Given the description of an element on the screen output the (x, y) to click on. 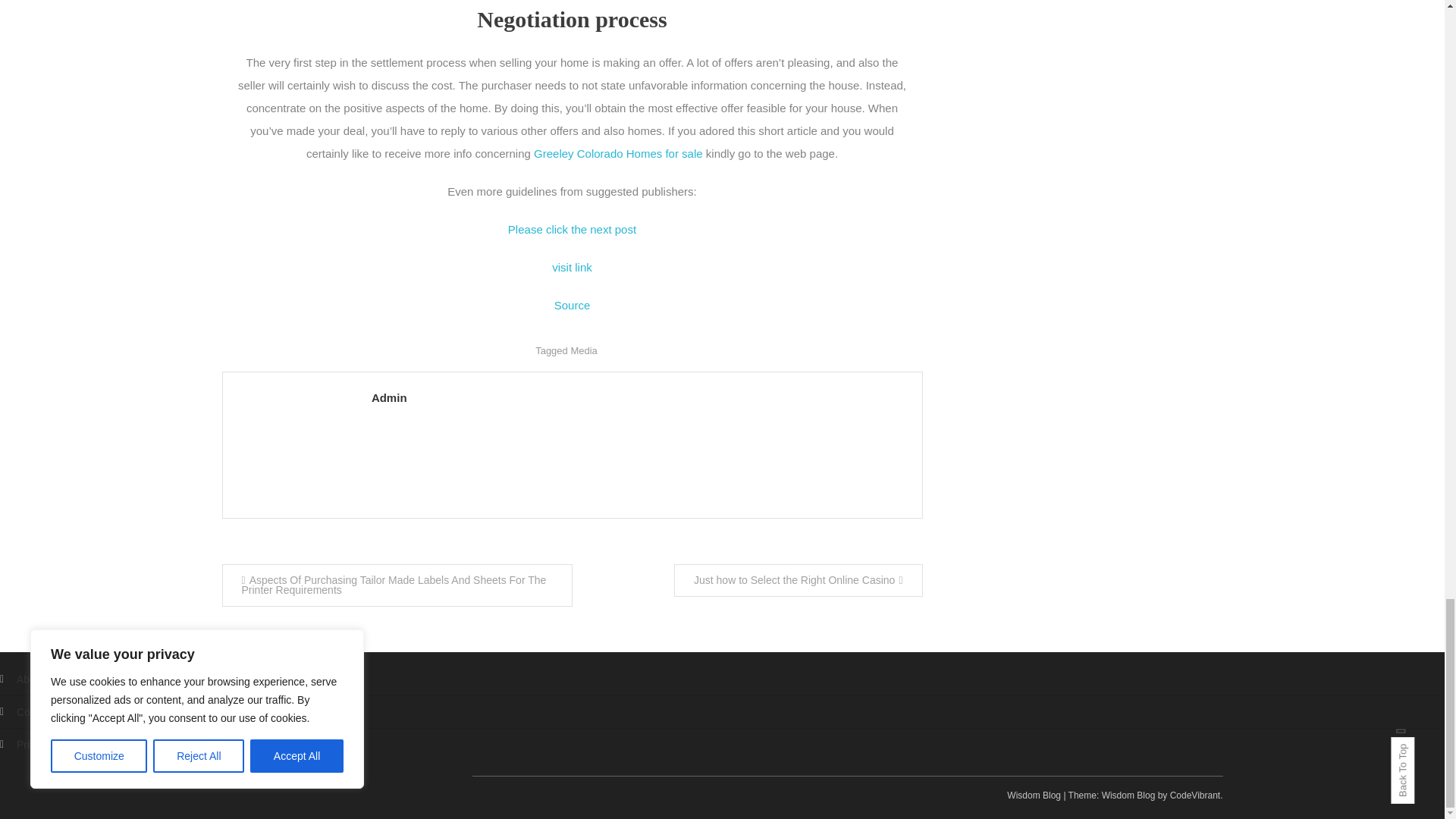
Please click the next post (572, 228)
Greeley Colorado Homes for sale (618, 153)
Source (572, 305)
visit link (571, 267)
Media (583, 350)
Just how to Select the Right Online Casino (798, 580)
Admin (639, 397)
